Given the description of an element on the screen output the (x, y) to click on. 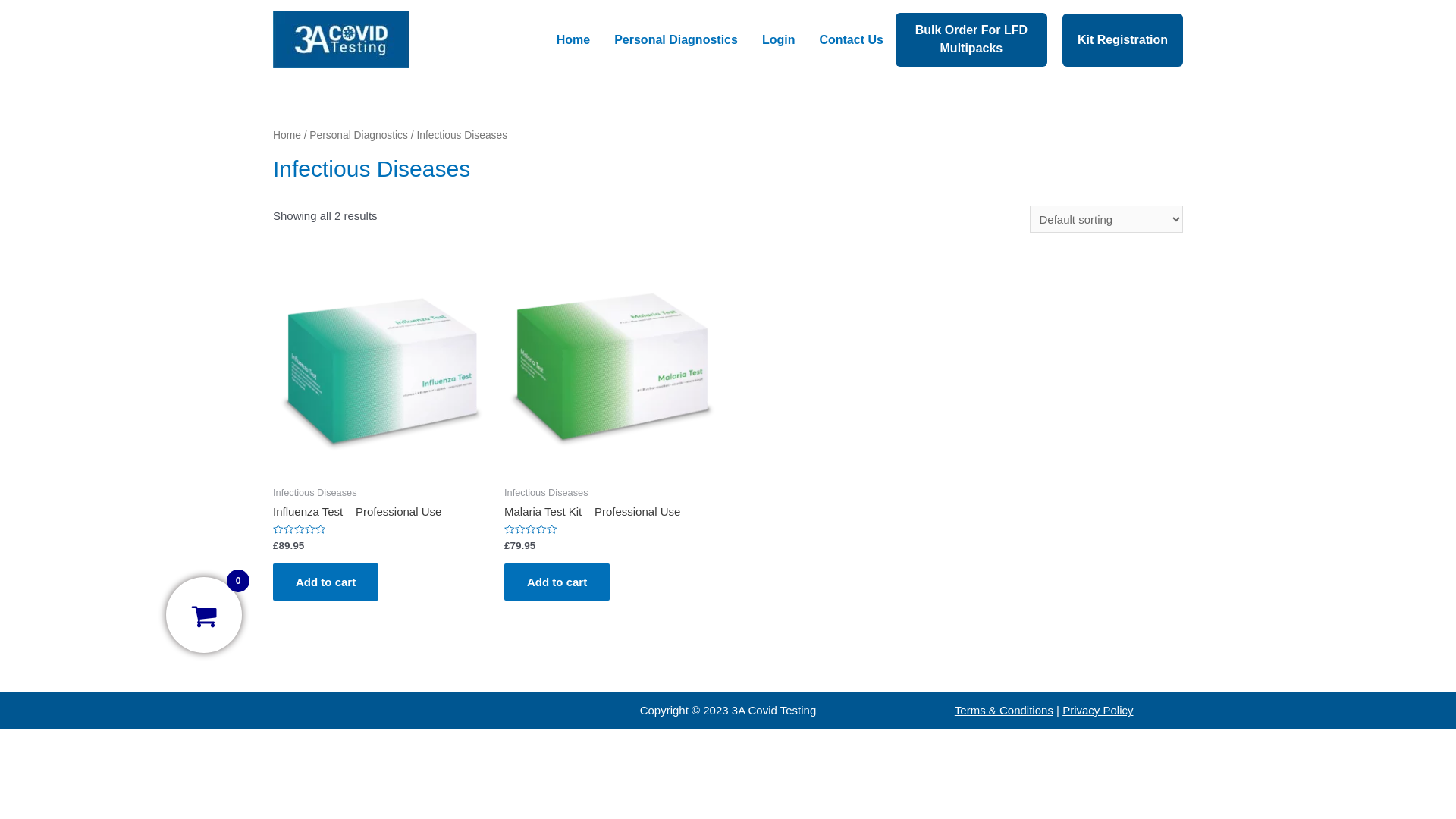
Kit Registration Element type: text (1122, 39)
Home Element type: text (573, 39)
Personal Diagnostics Element type: text (675, 39)
Login Element type: text (778, 39)
Privacy Policy Element type: text (1097, 709)
Home Element type: text (287, 135)
Personal Diagnostics Element type: text (358, 135)
Contact Us Element type: text (850, 39)
Add to cart Element type: text (556, 582)
Add to cart Element type: text (325, 582)
Bulk Order For LFD Multipacks Element type: text (971, 39)
Terms & Conditions Element type: text (1003, 709)
